Given the description of an element on the screen output the (x, y) to click on. 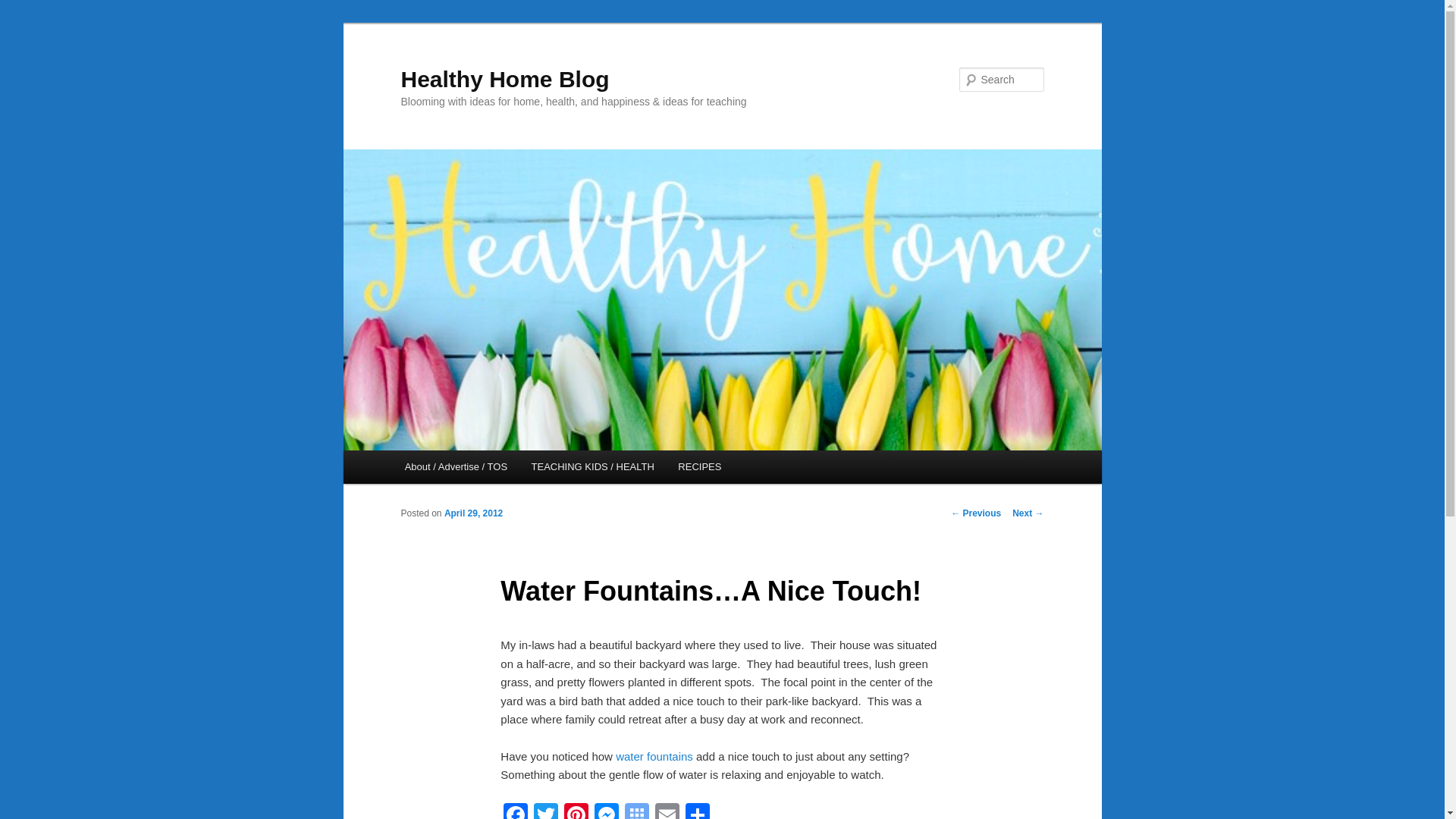
Twitter (545, 811)
Facebook (515, 811)
Messenger (606, 811)
Pinterest (575, 811)
Search (24, 8)
Pinterest (575, 811)
April 29, 2012 (473, 512)
Twitter (545, 811)
Facebook (515, 811)
Symbaloo Bookmarks (636, 811)
